Given the description of an element on the screen output the (x, y) to click on. 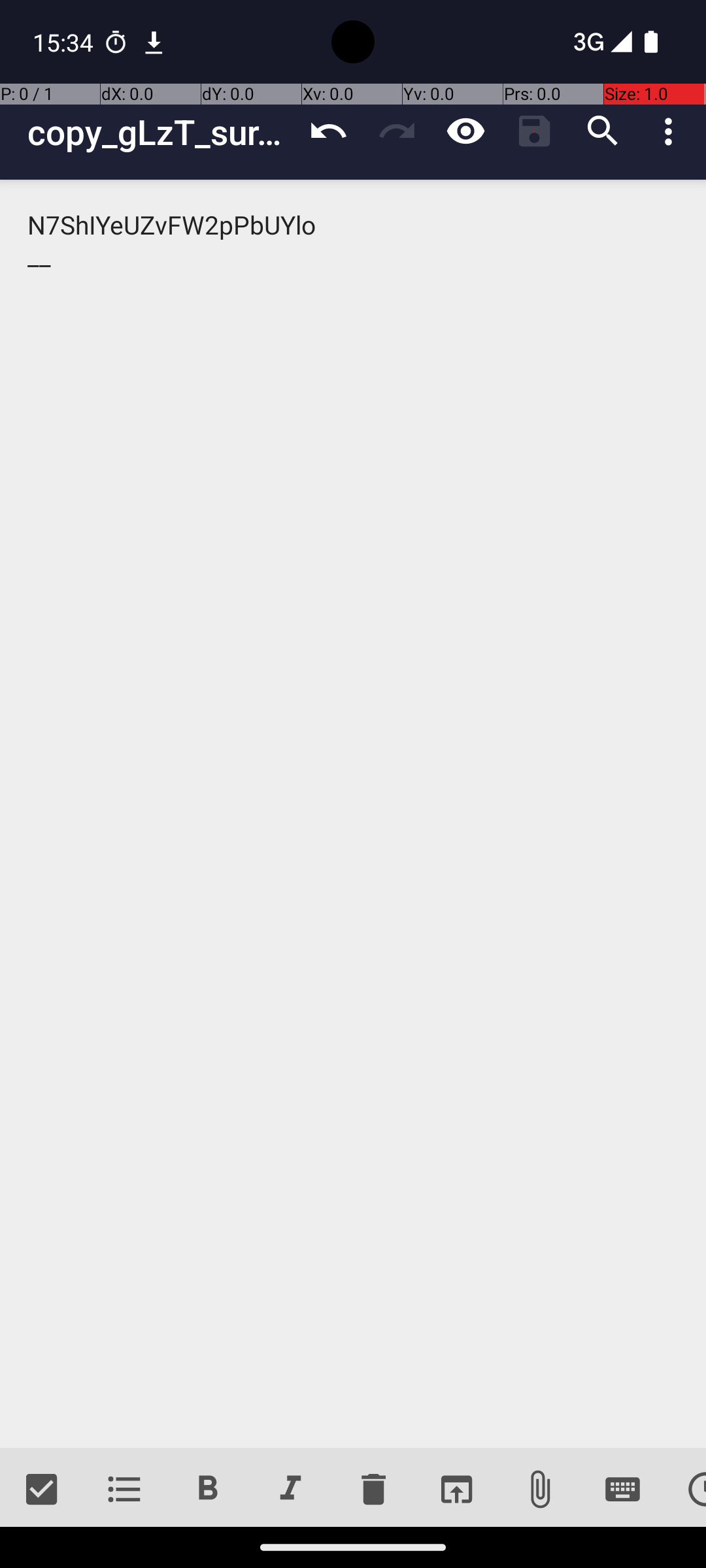
copy_gLzT_sure_nest Element type: android.widget.TextView (160, 131)
N7ShIYeUZvFW2pPbUYlo
__ Element type: android.widget.EditText (353, 813)
